Given the description of an element on the screen output the (x, y) to click on. 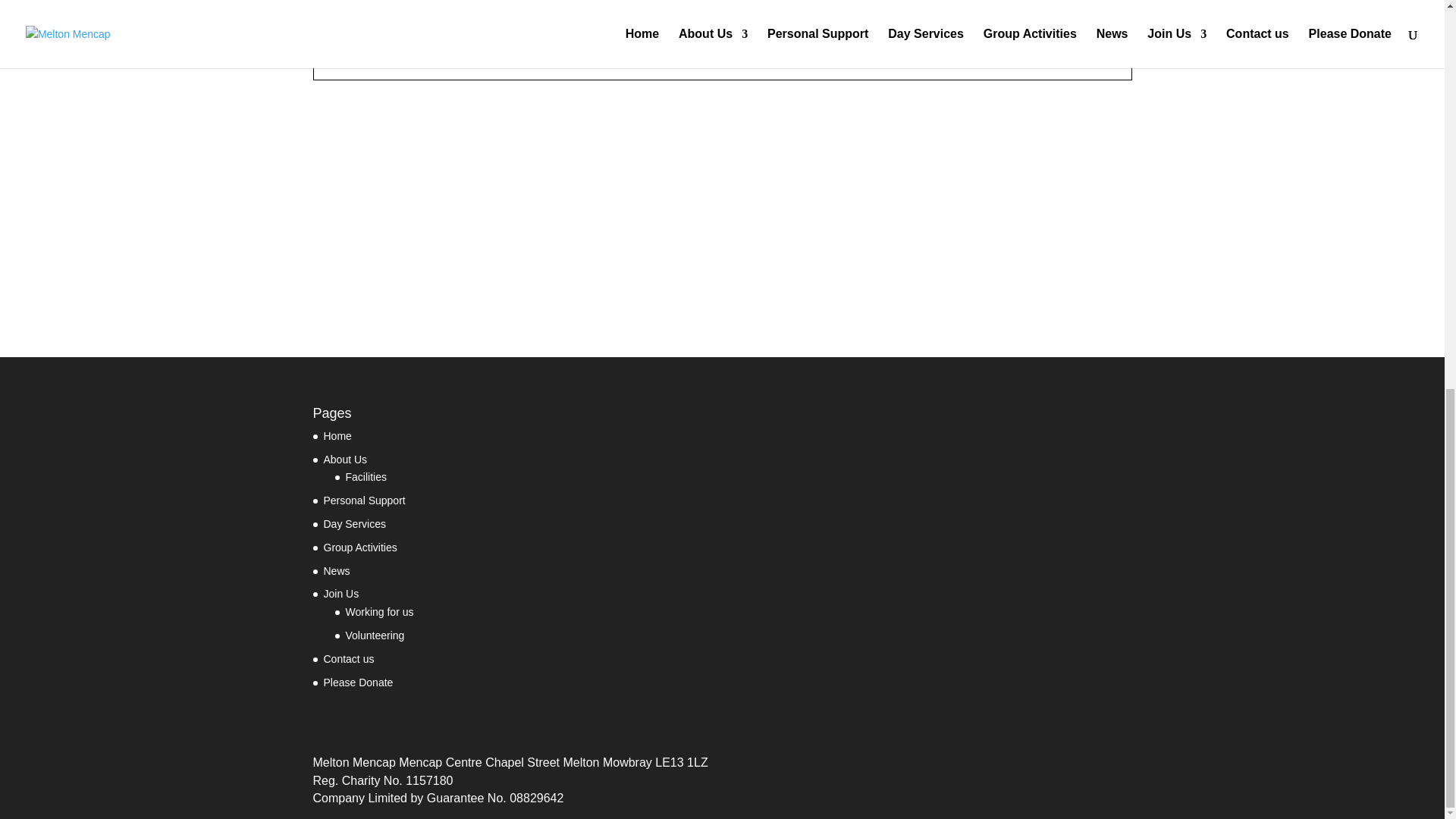
Contact us (348, 658)
About Us (344, 459)
Personal Support (363, 500)
Volunteering (375, 635)
Please Donate (358, 682)
Working for us (379, 612)
Home (336, 435)
News (336, 571)
Day Services (354, 523)
Group Activities (359, 547)
Facilities (366, 476)
Join Us (340, 593)
